Given the description of an element on the screen output the (x, y) to click on. 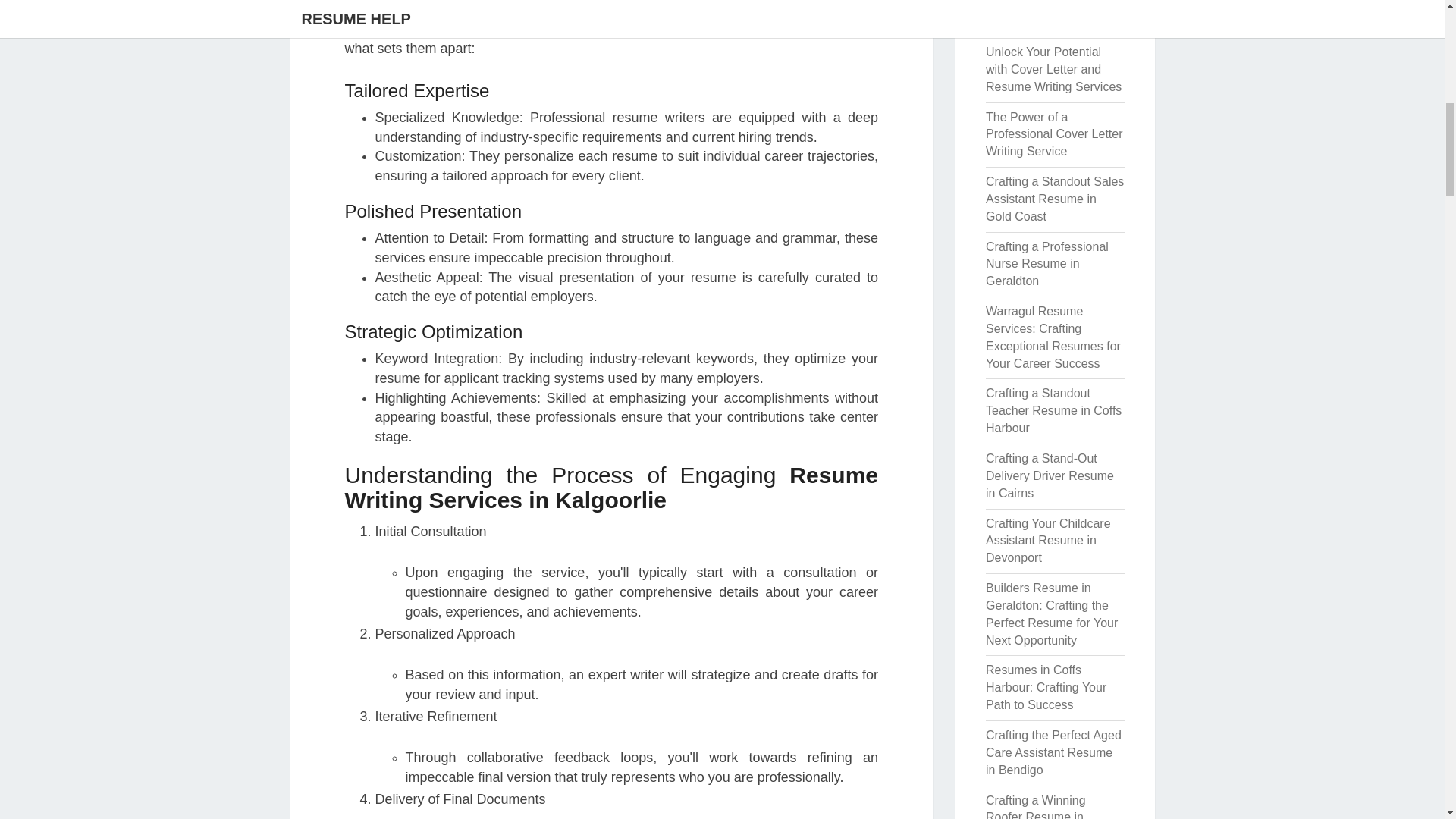
Crafting a Stand-Out Delivery Driver Resume in Cairns (1049, 475)
Crafting the Perfect Aged Care Assistant Resume in Bendigo (1053, 752)
Crafting a Professional Nurse Resume in Geraldton (1046, 264)
Crafting a Standout Teacher Resume in Coffs Harbour (1053, 410)
Crafting Your Childcare Assistant Resume in Devonport (1047, 540)
The Power of a Professional Cover Letter Writing Service (1053, 134)
Crafting the Perfect Chef Resume in Perth (1052, 13)
Crafting a Standout Sales Assistant Resume in Gold Coast (1054, 198)
Crafting a Winning Roofer Resume in Launceston (1035, 806)
Resumes in Coffs Harbour: Crafting Your Path to Success (1045, 687)
